Given the description of an element on the screen output the (x, y) to click on. 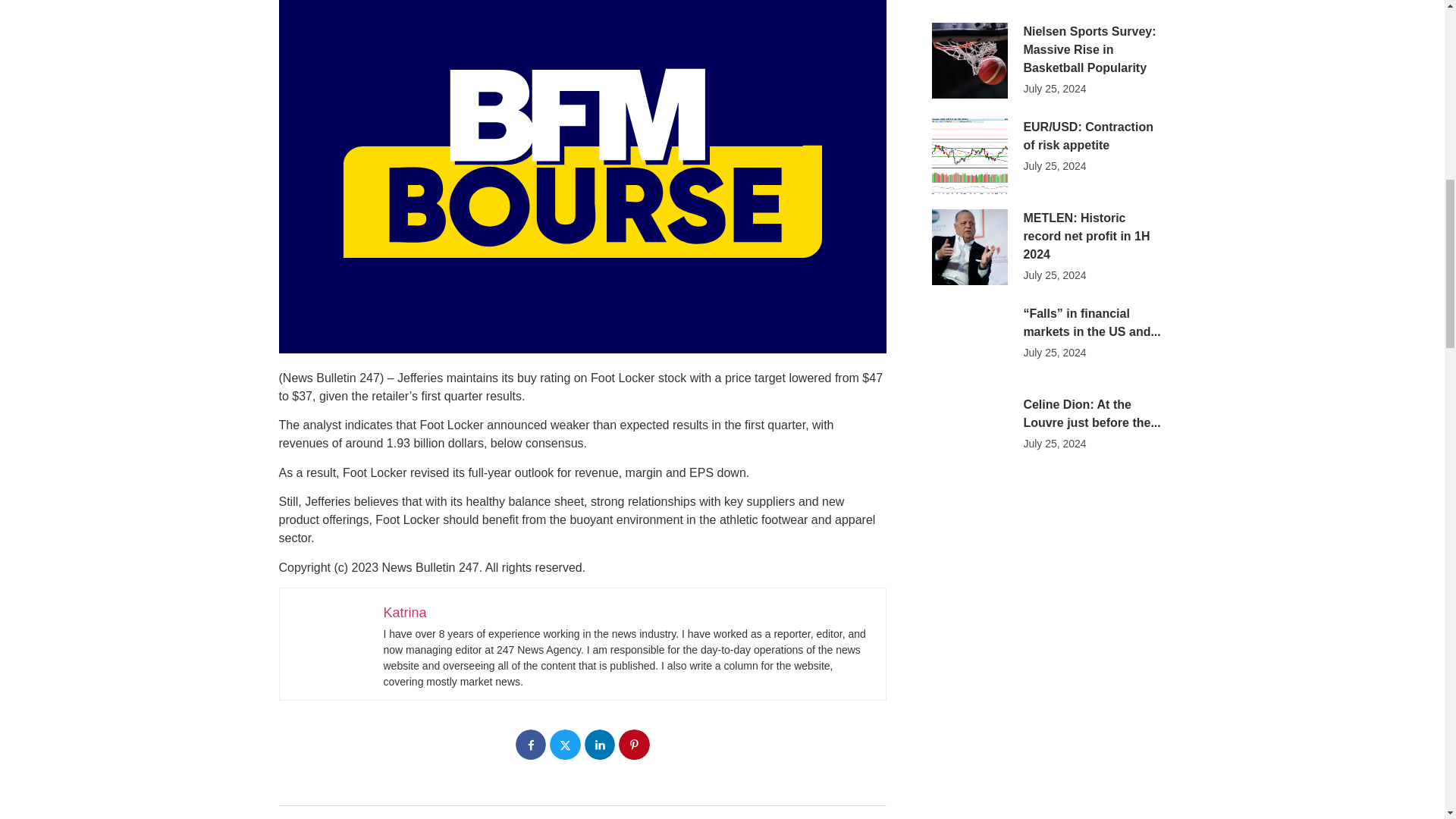
Katrina (405, 612)
